Given the description of an element on the screen output the (x, y) to click on. 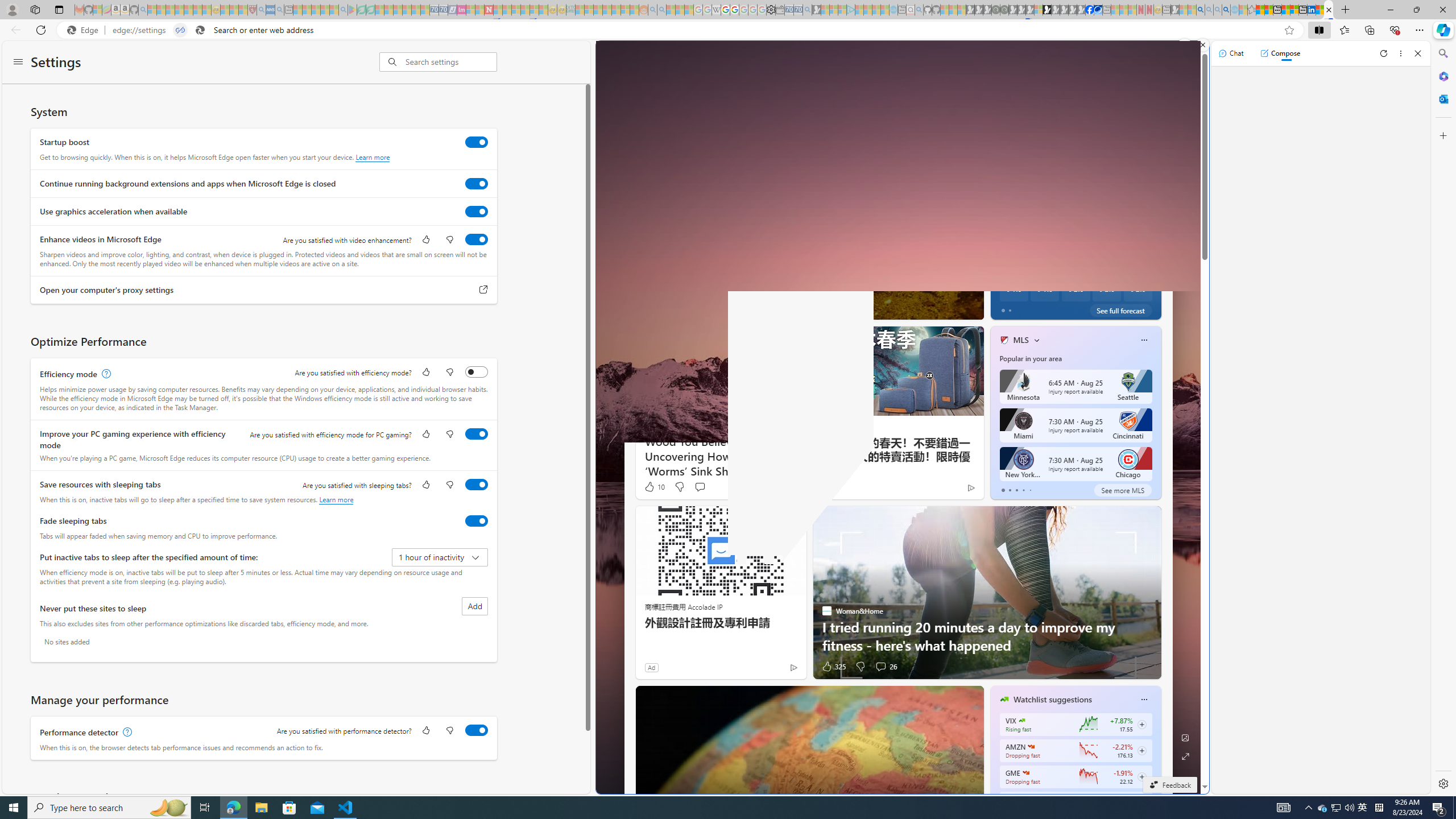
Geography Facts Most People Get Wrong (1159, 287)
View comments 14 Comment (1056, 307)
Add site to never put these sites to sleep list (474, 606)
Open your computer's proxy settings (483, 290)
More options. (1183, 45)
